Given the description of an element on the screen output the (x, y) to click on. 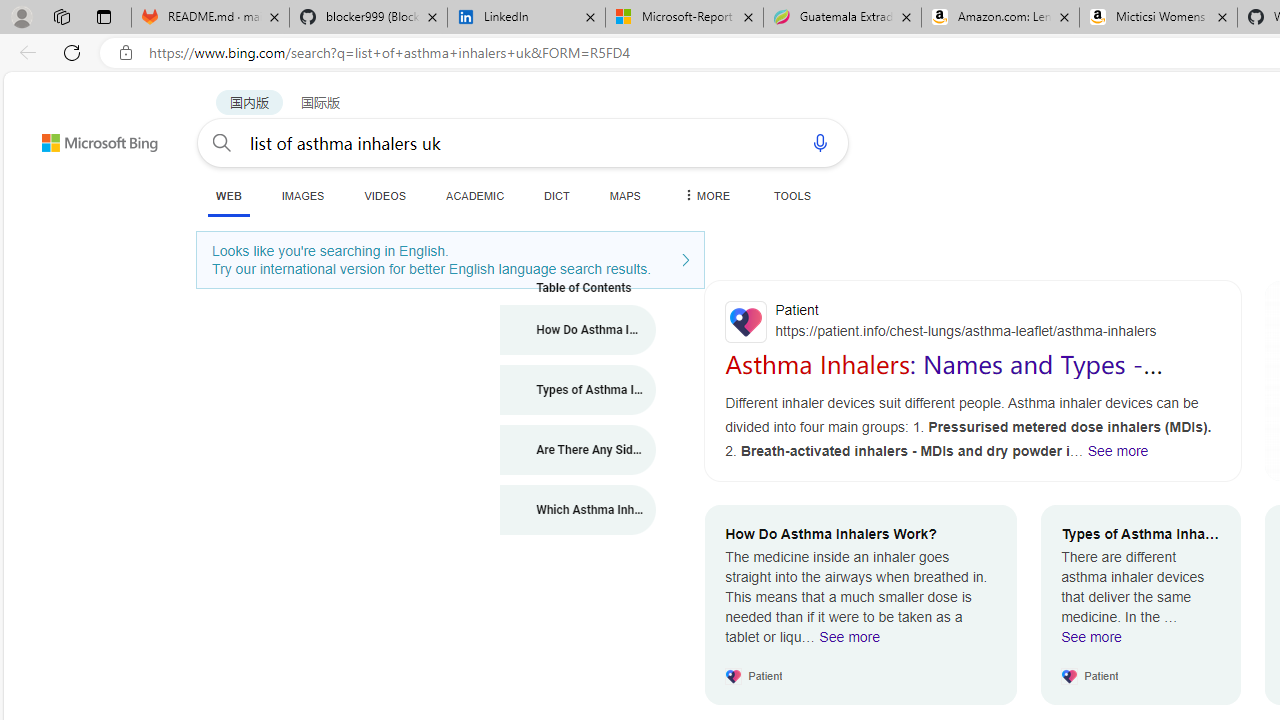
MORE (705, 195)
MAPS (624, 195)
Search button (221, 142)
DICT (557, 195)
Asthma Inhalers: Names and Types - Patient (943, 378)
TOOLS (792, 195)
Types of Asthma Inhalers (578, 389)
